Given the description of an element on the screen output the (x, y) to click on. 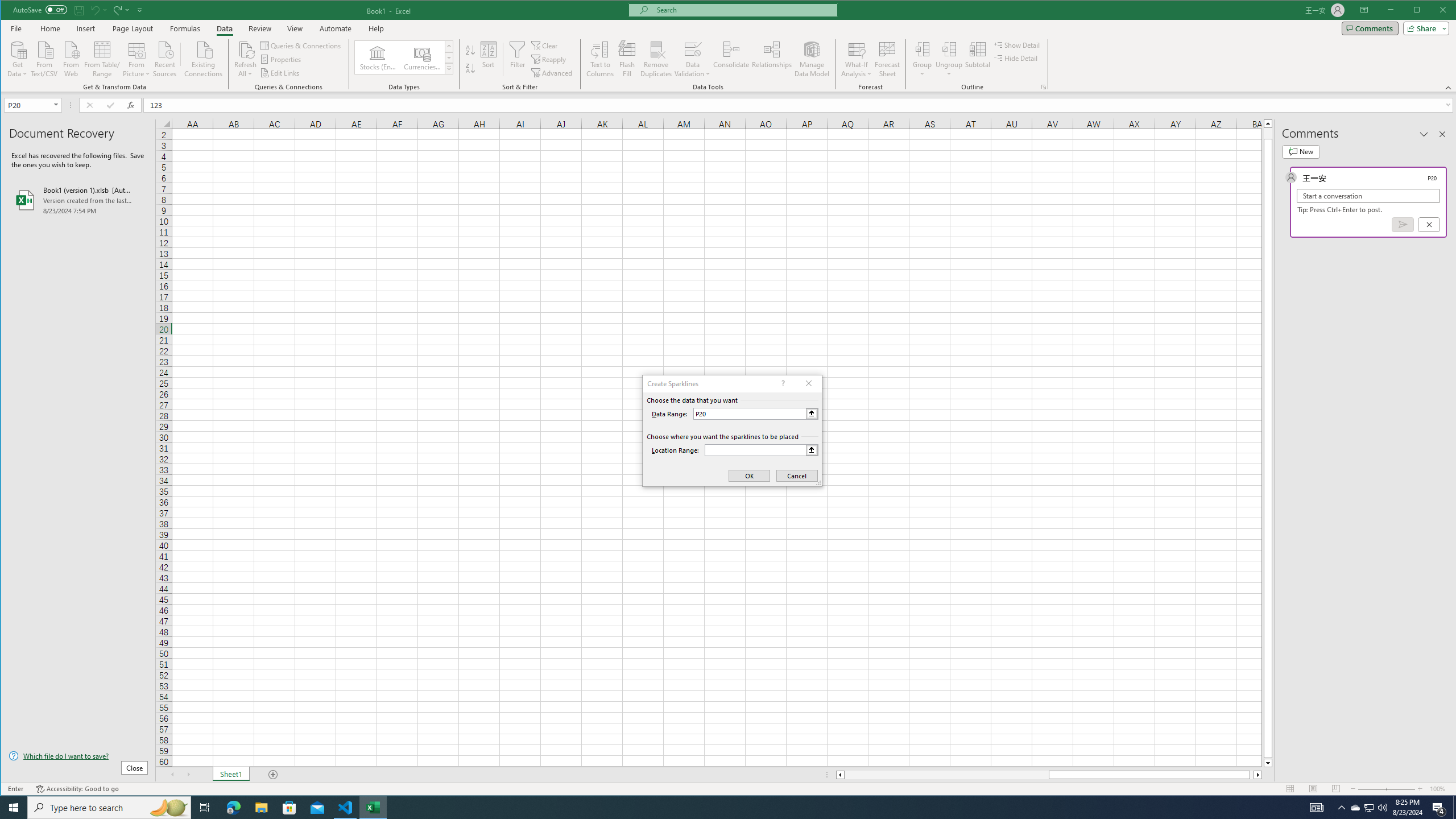
Consolidate... (731, 59)
